Given the description of an element on the screen output the (x, y) to click on. 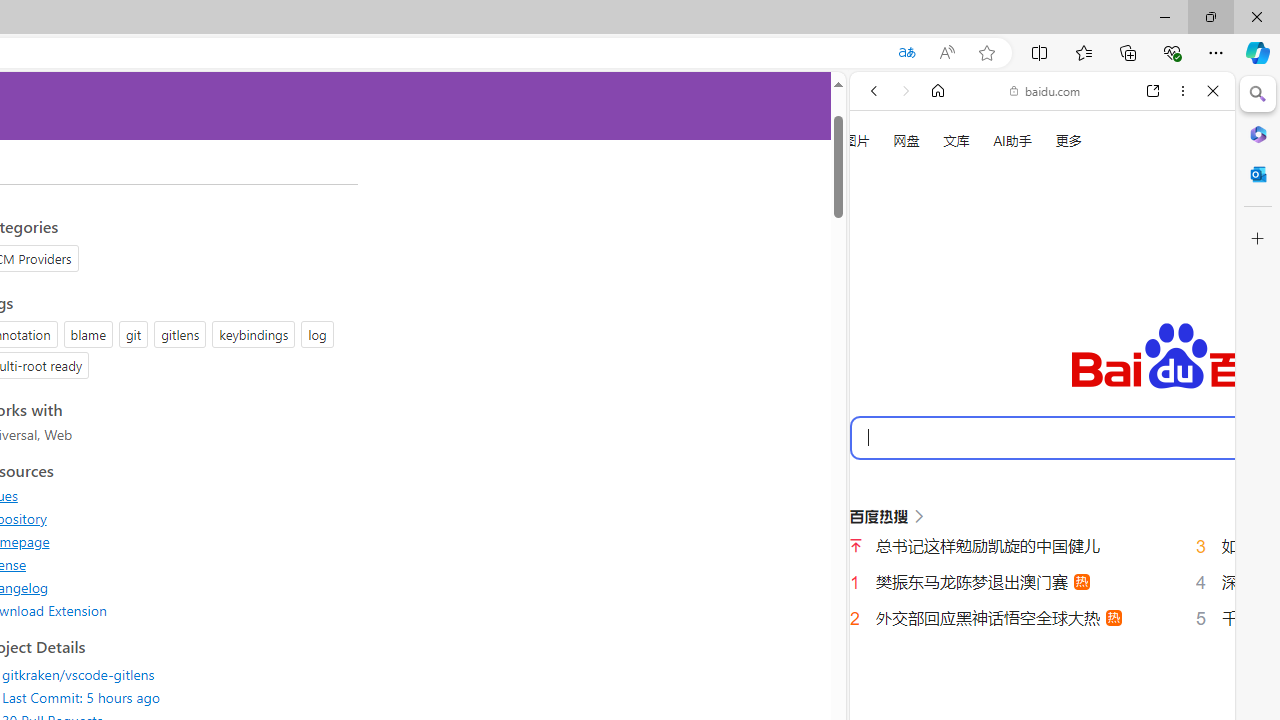
Home (938, 91)
